Given the description of an element on the screen output the (x, y) to click on. 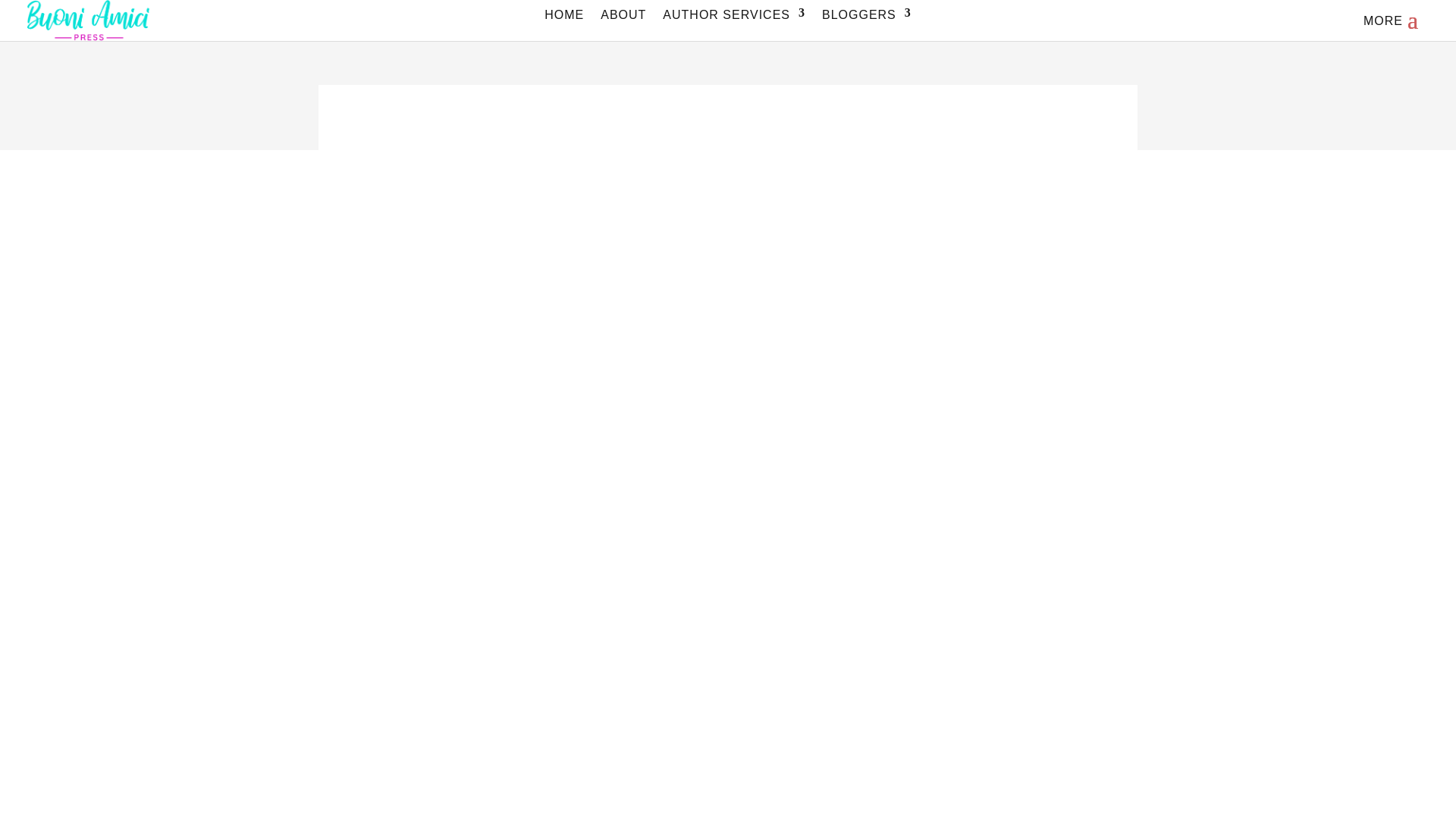
BLOGGERS (866, 21)
HOME (563, 21)
ABOUT (622, 21)
AUTHOR SERVICES (733, 21)
